Given the description of an element on the screen output the (x, y) to click on. 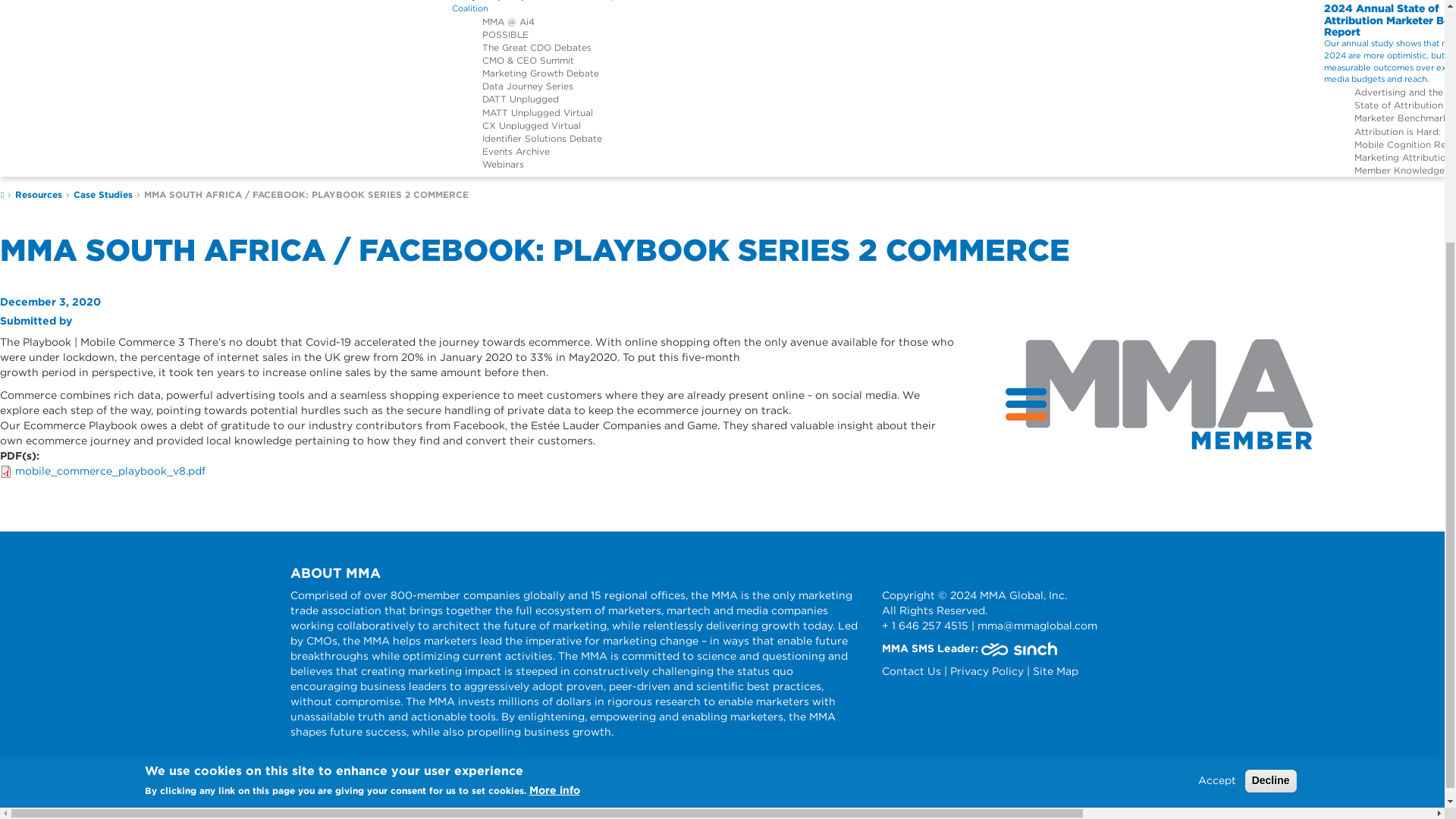
POSSIBLE (504, 34)
The Great CDO Debates (536, 47)
